Given the description of an element on the screen output the (x, y) to click on. 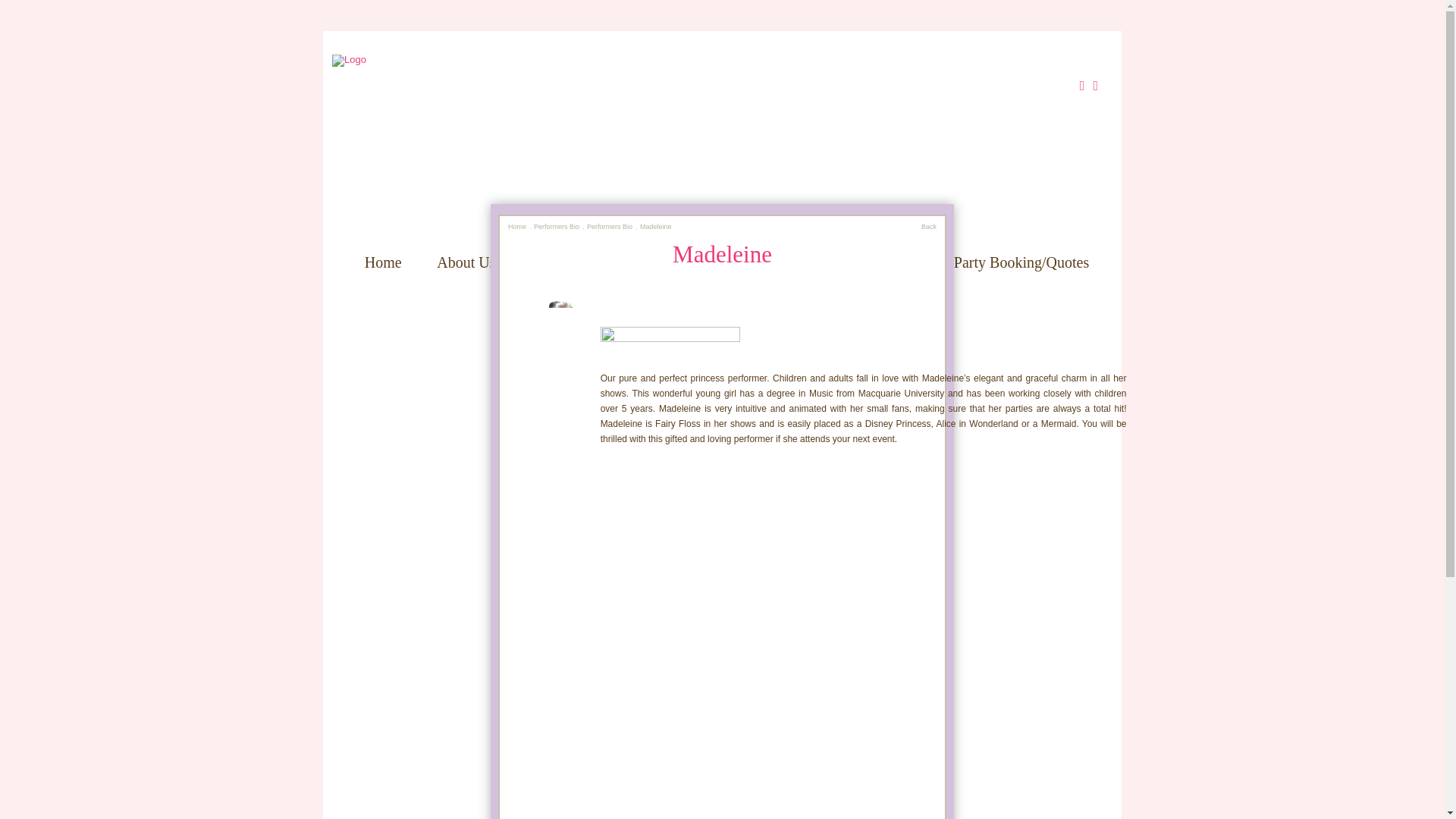
Back (928, 226)
Go to the Performers Bio Category archives. (556, 226)
Contact (726, 277)
Go to Fairy and the Frog. (516, 226)
Performers Bio (608, 226)
Go to the Performers Bio Category archives. (608, 226)
High Tea in Fairyland (852, 262)
Performers Bio (556, 226)
Home (516, 226)
Kids Party Venue (584, 262)
